Given the description of an element on the screen output the (x, y) to click on. 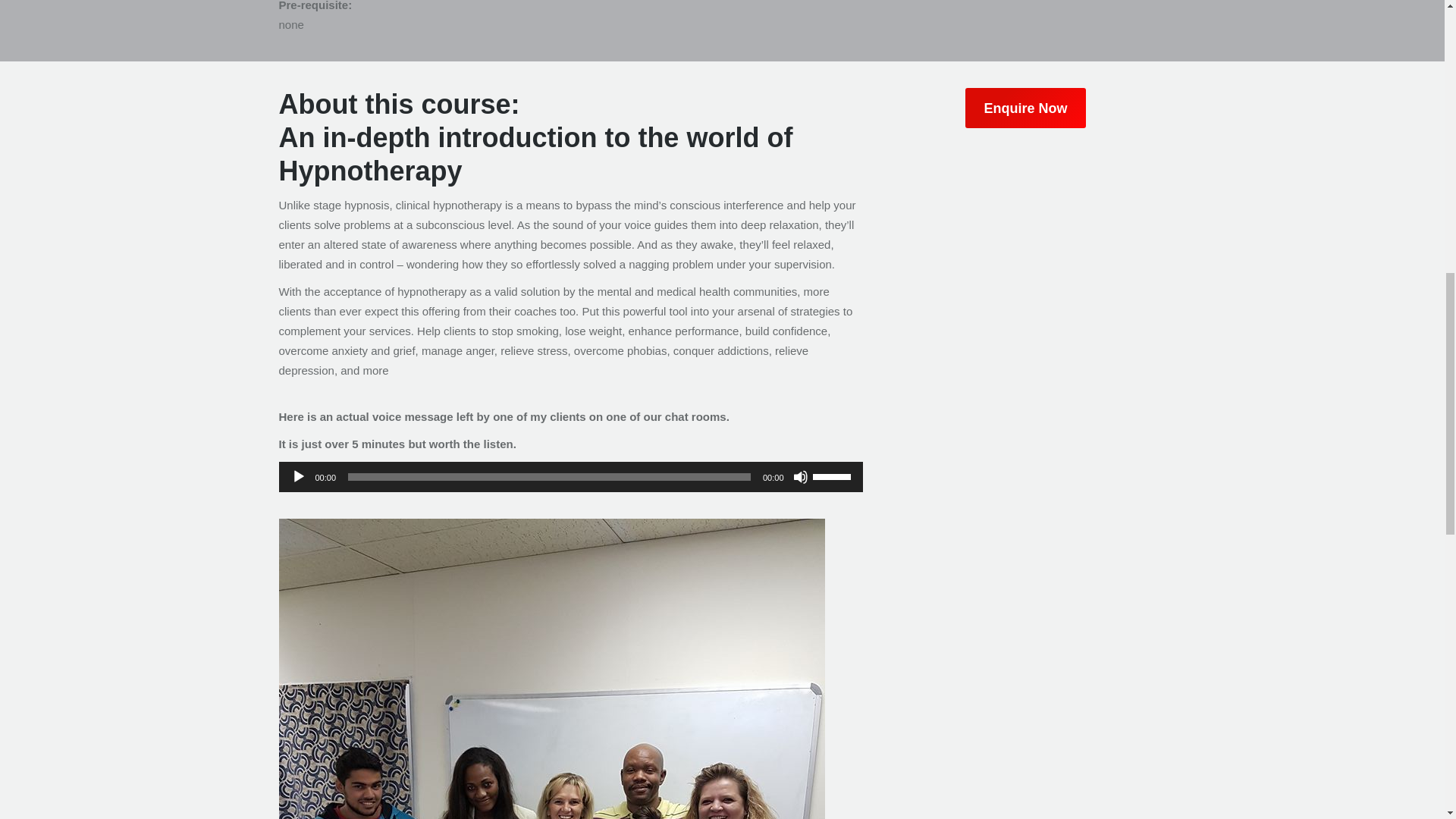
Play (298, 476)
Enquire Now (1024, 107)
Mute (800, 476)
